Given the description of an element on the screen output the (x, y) to click on. 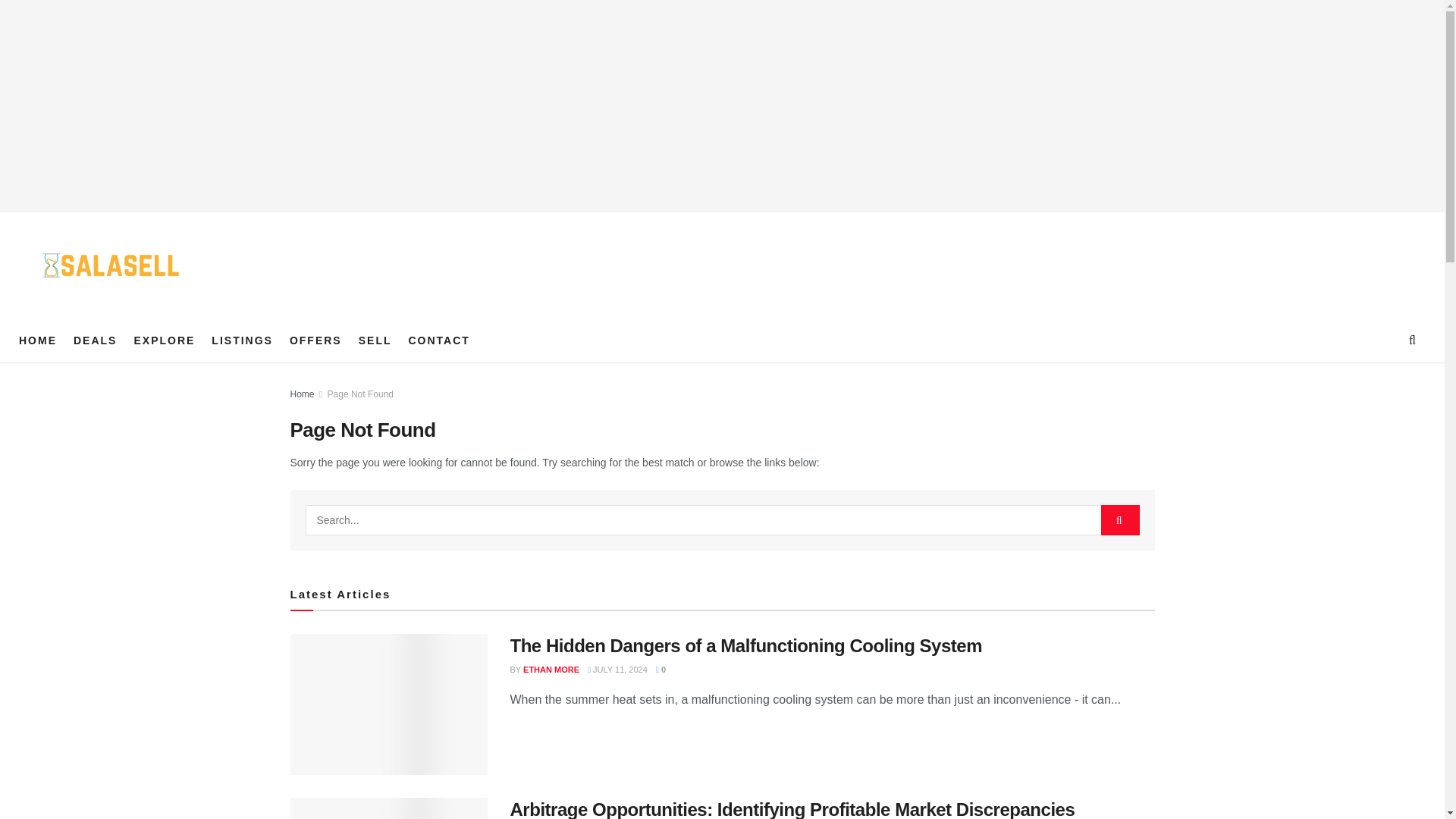
The Hidden Dangers of a Malfunctioning Cooling System (745, 645)
JULY 11, 2024 (617, 669)
EXPLORE (164, 340)
LISTINGS (242, 340)
0 (660, 669)
Page Not Found (360, 394)
CONTACT (437, 340)
OFFERS (315, 340)
Home (301, 394)
